Given the description of an element on the screen output the (x, y) to click on. 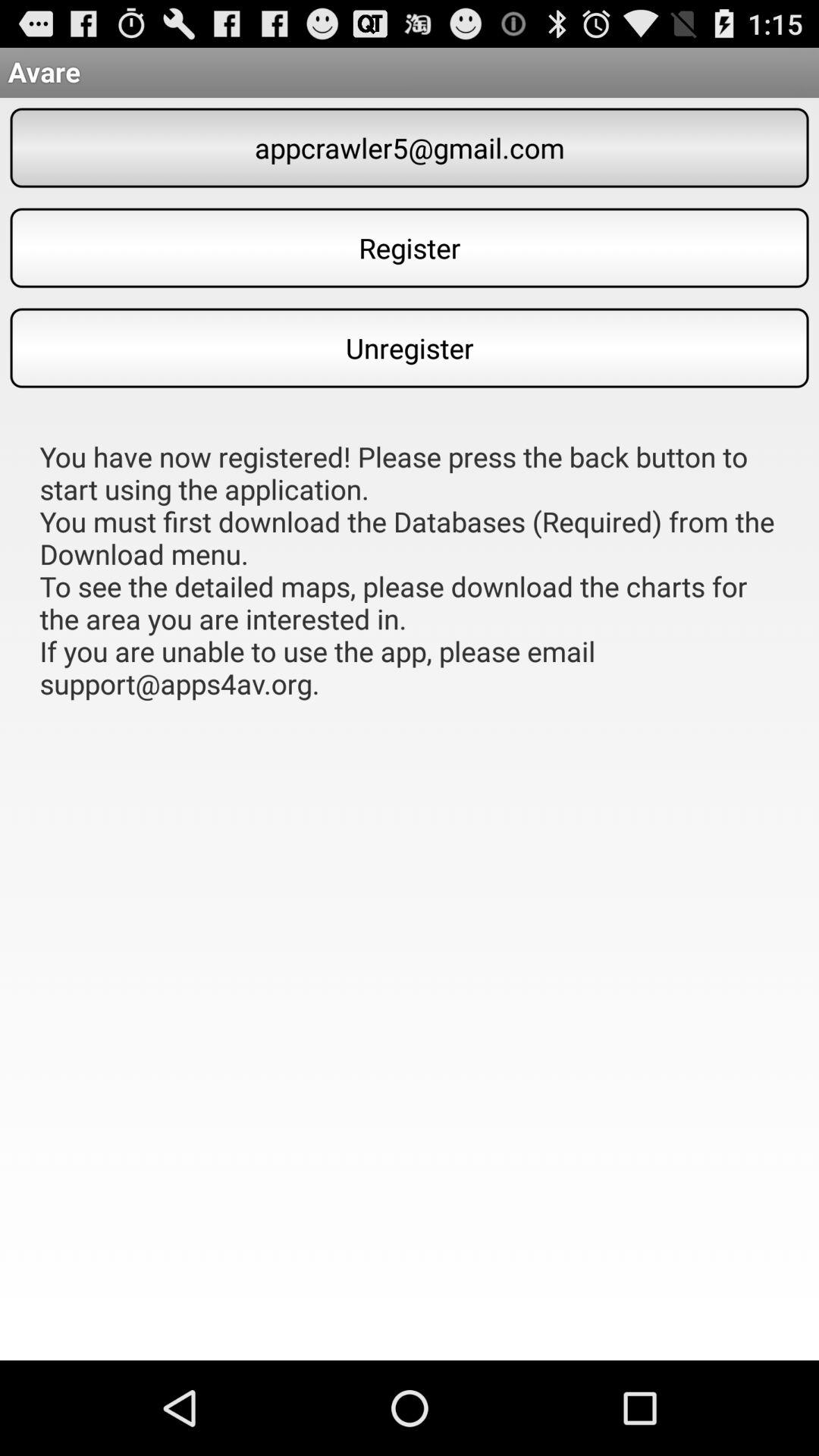
flip until appcrawler5@gmail.com item (409, 147)
